Given the description of an element on the screen output the (x, y) to click on. 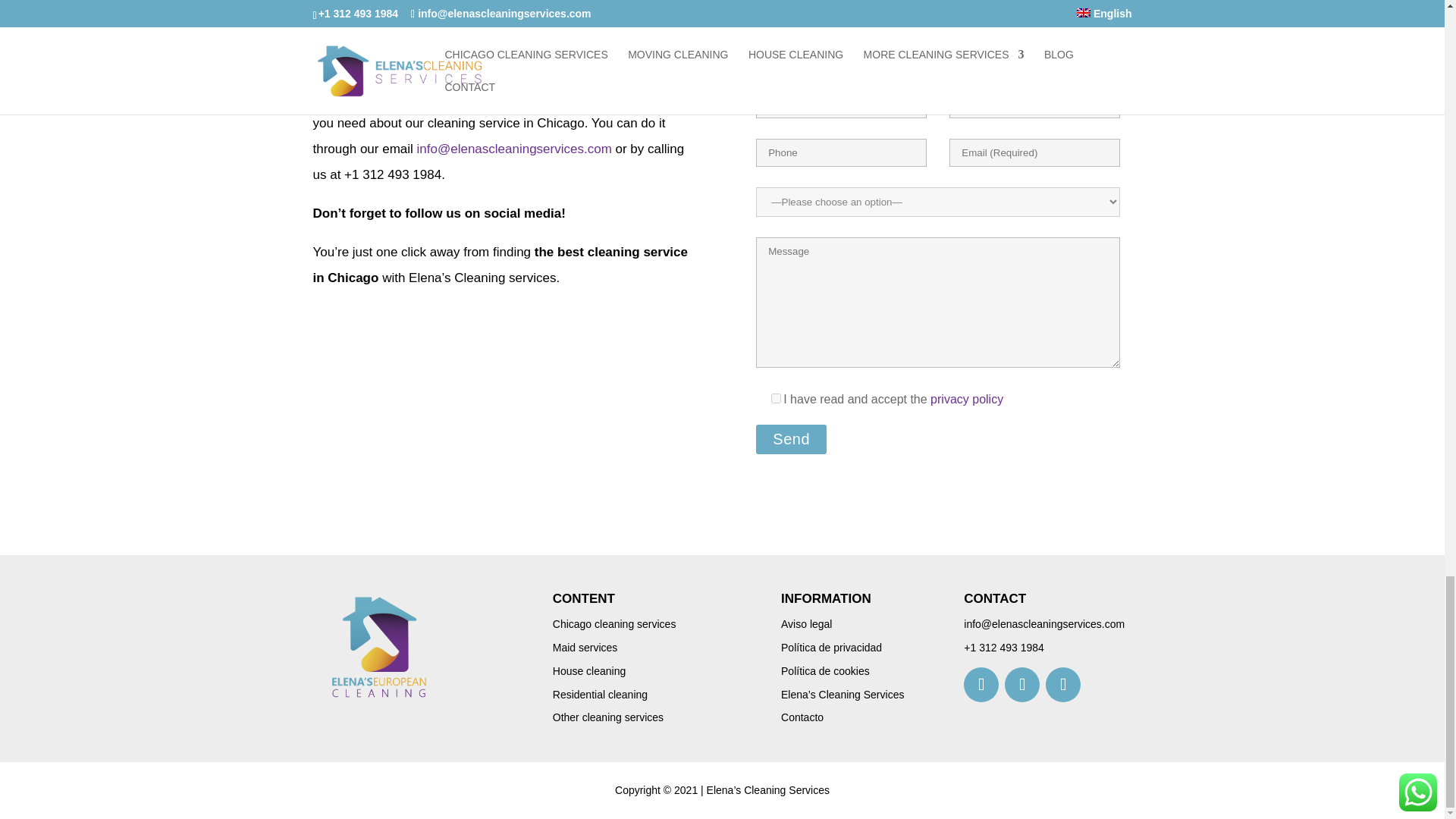
Aviso legal (805, 623)
Chicago cleaning services (615, 623)
Contacto (802, 717)
House cleaning (589, 671)
Cleaning Services in Chicago (379, 646)
Follow on Yelp (1062, 684)
Follow on Facebook (980, 684)
1 (775, 398)
Maid services (585, 647)
Send (791, 439)
Other cleaning services (608, 717)
Residential cleaning (600, 694)
Send (791, 439)
Follow on Instagram (1021, 684)
privacy policy (966, 399)
